Given the description of an element on the screen output the (x, y) to click on. 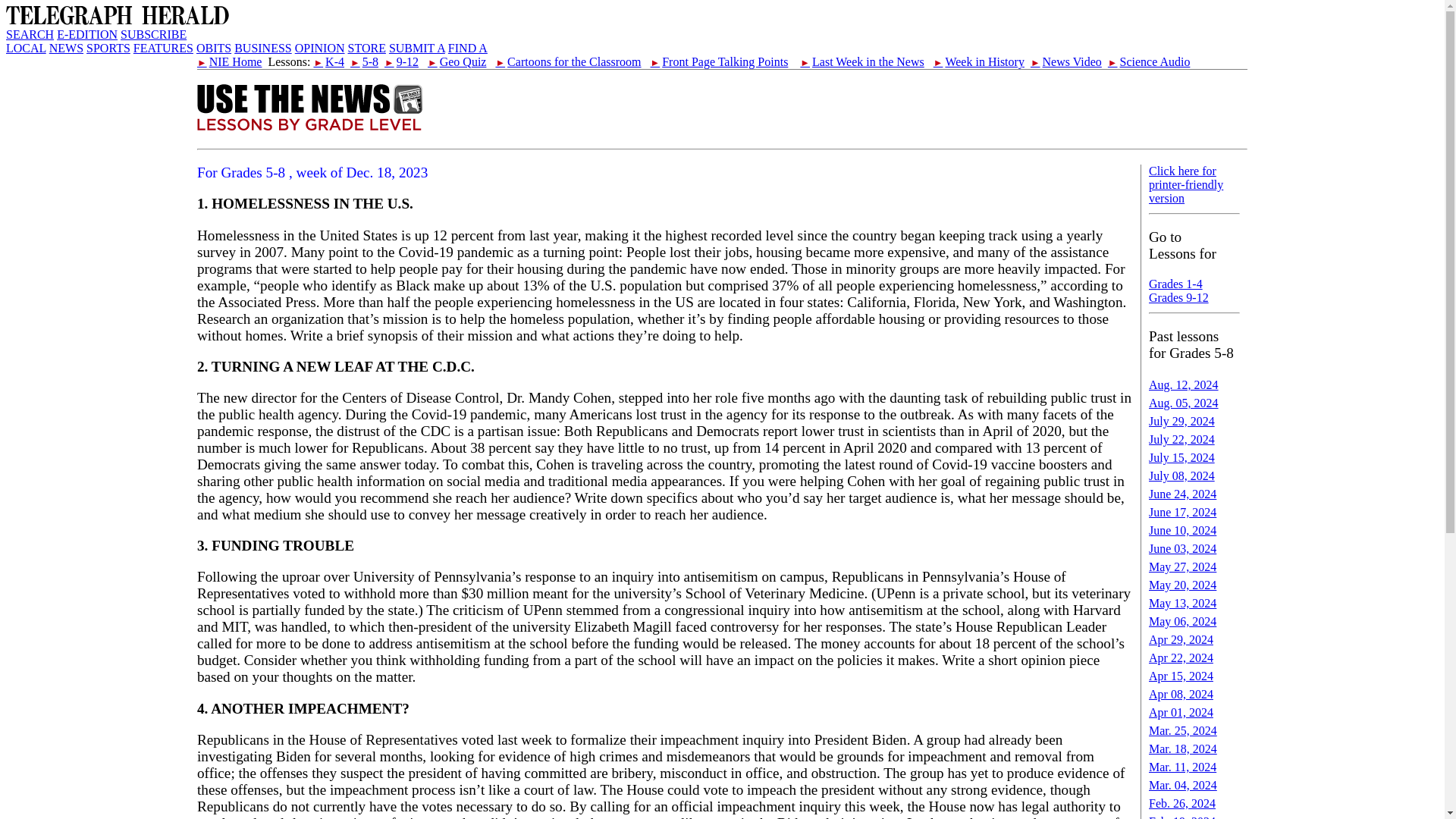
STORE (366, 47)
SUBMIT A (416, 47)
July 15, 2024 (1181, 457)
Grades 1-4 (1175, 283)
May 27, 2024 (1181, 566)
July 08, 2024 (1181, 475)
E-EDITION (86, 33)
LOCAL (25, 47)
July 22, 2024 (1181, 439)
Grades 9-12 (1178, 297)
